Given the description of an element on the screen output the (x, y) to click on. 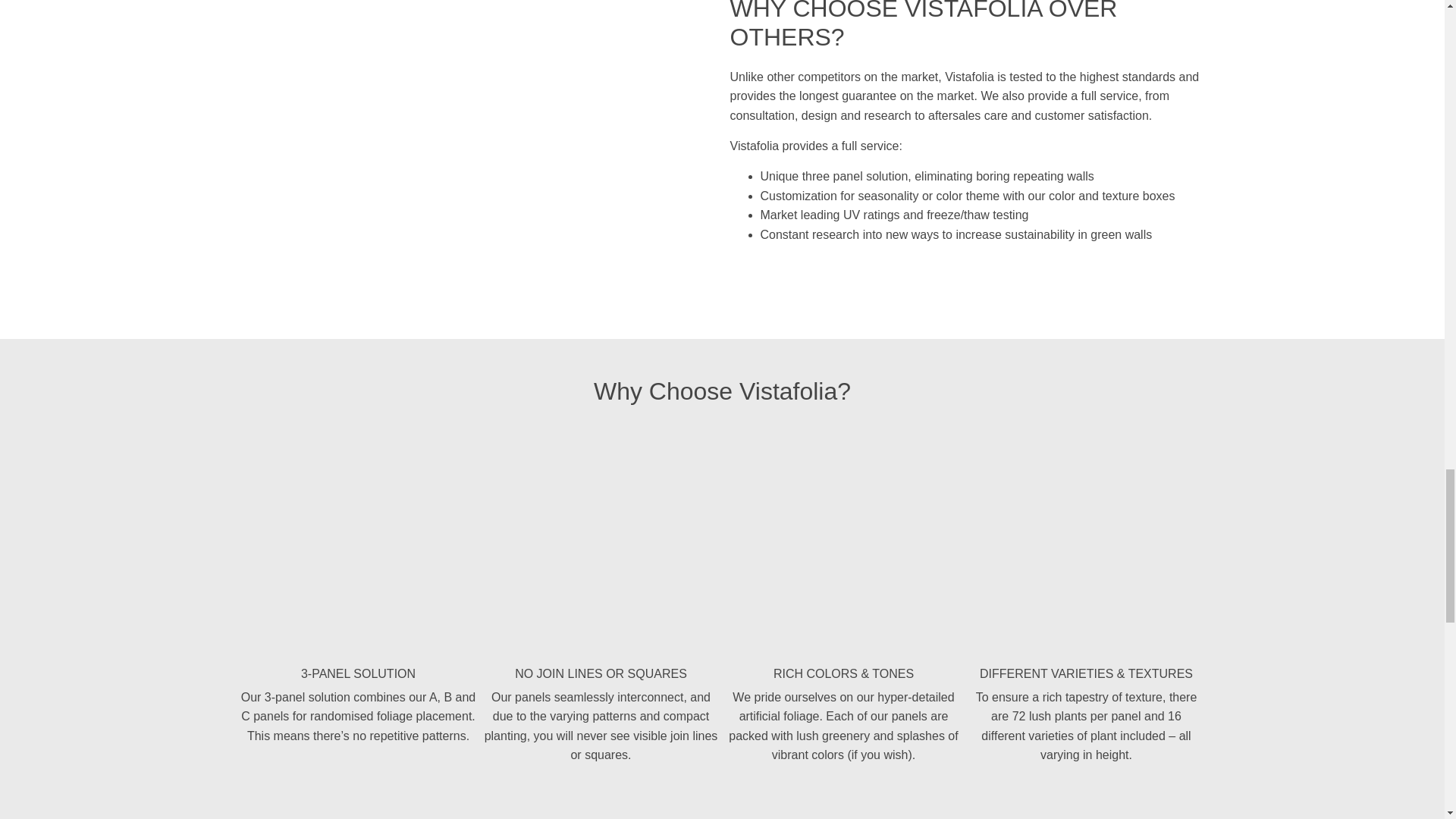
beautiful realistic plant wall in office (601, 542)
Close up of White-Flowers Within Artificial Green Wall (358, 542)
Vistafolia garden artificial green wall (843, 542)
